Given the description of an element on the screen output the (x, y) to click on. 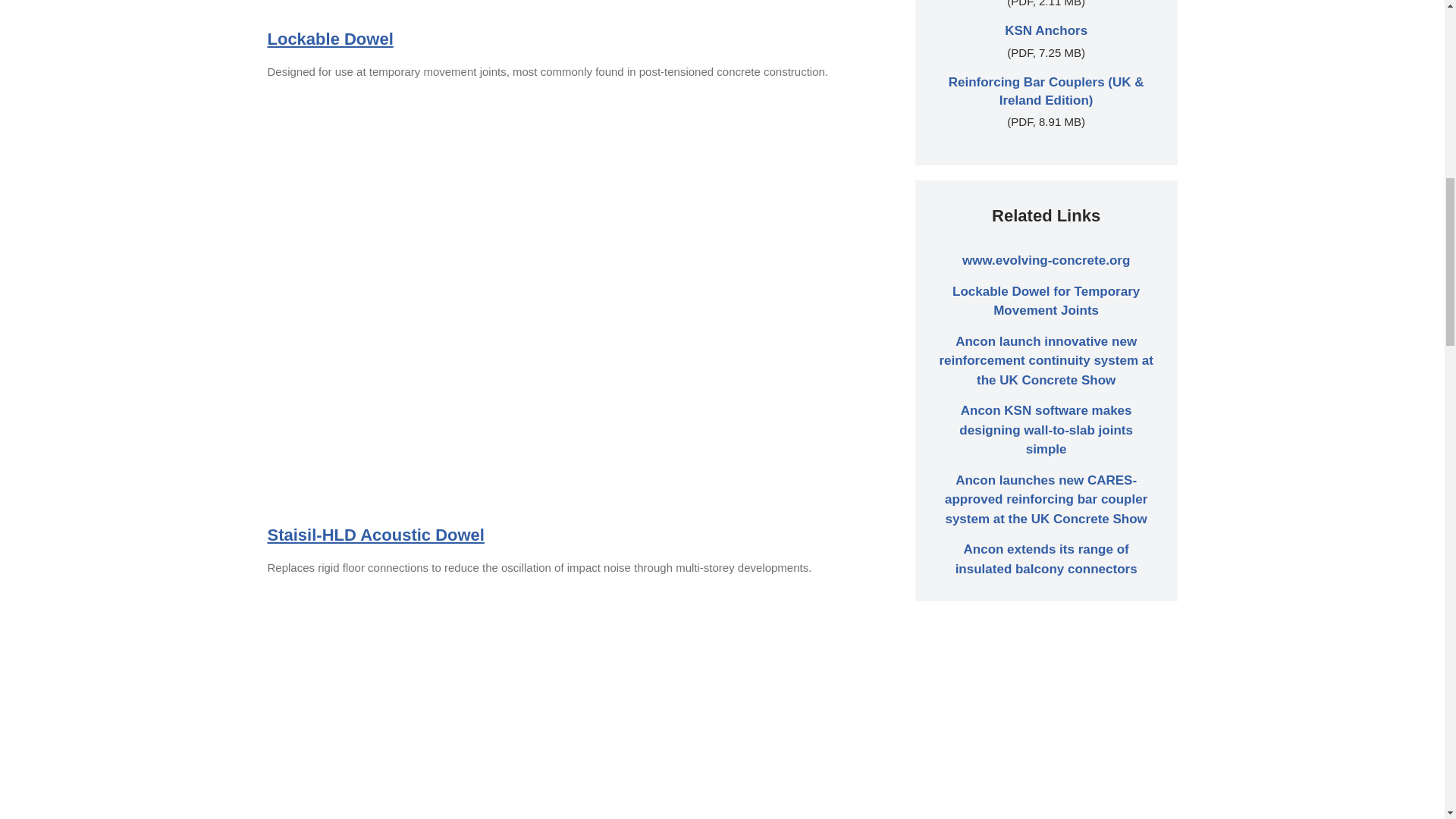
Lockable Dowel (329, 38)
Staisil-HLD Acoustic Dowel (374, 534)
KSN Anchors (1045, 30)
Download file (1046, 91)
Download file (1045, 30)
